Given the description of an element on the screen output the (x, y) to click on. 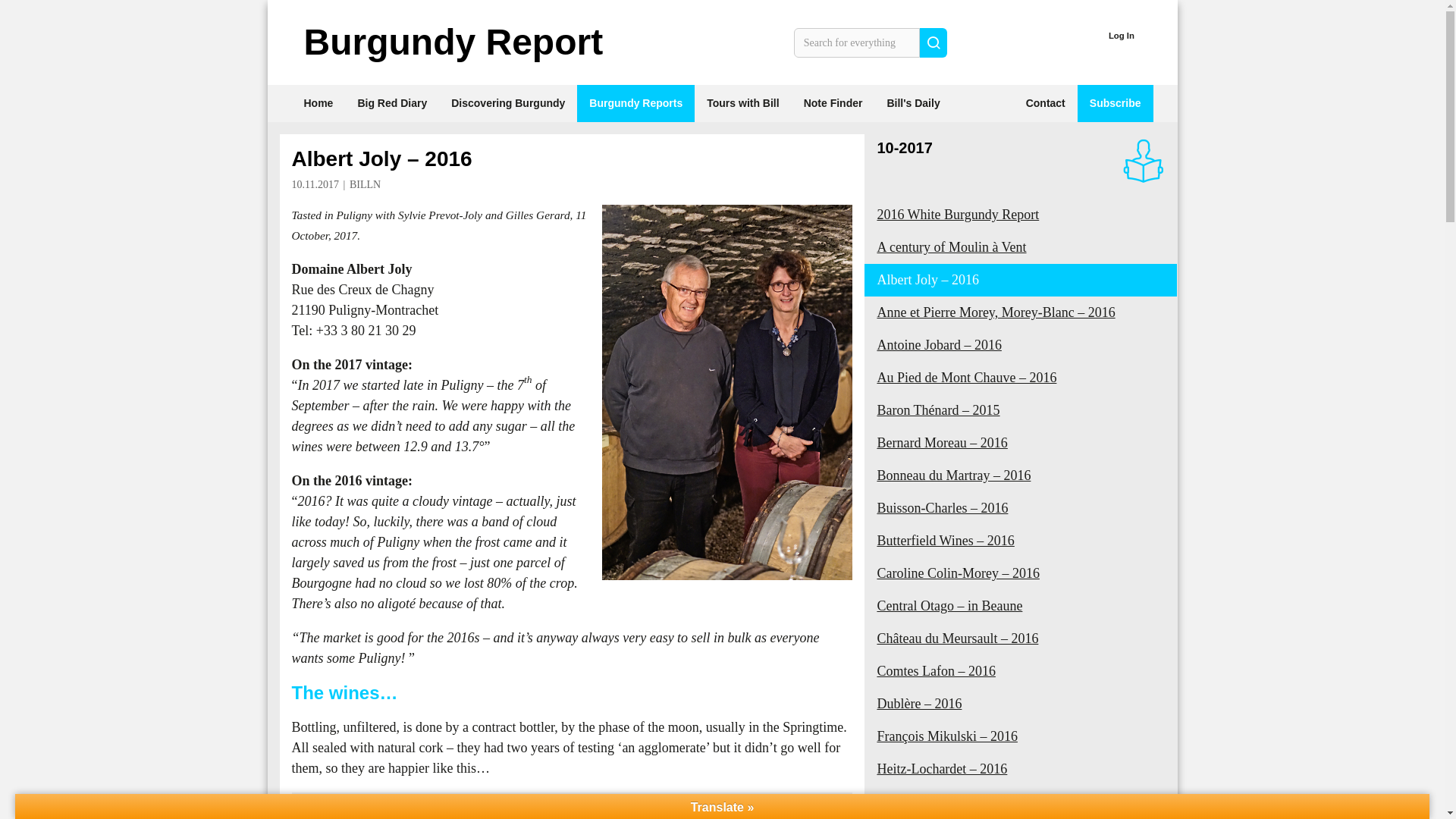
10-2017 (903, 147)
2016 White Burgundy Report (1020, 214)
BILLN (364, 184)
